Given the description of an element on the screen output the (x, y) to click on. 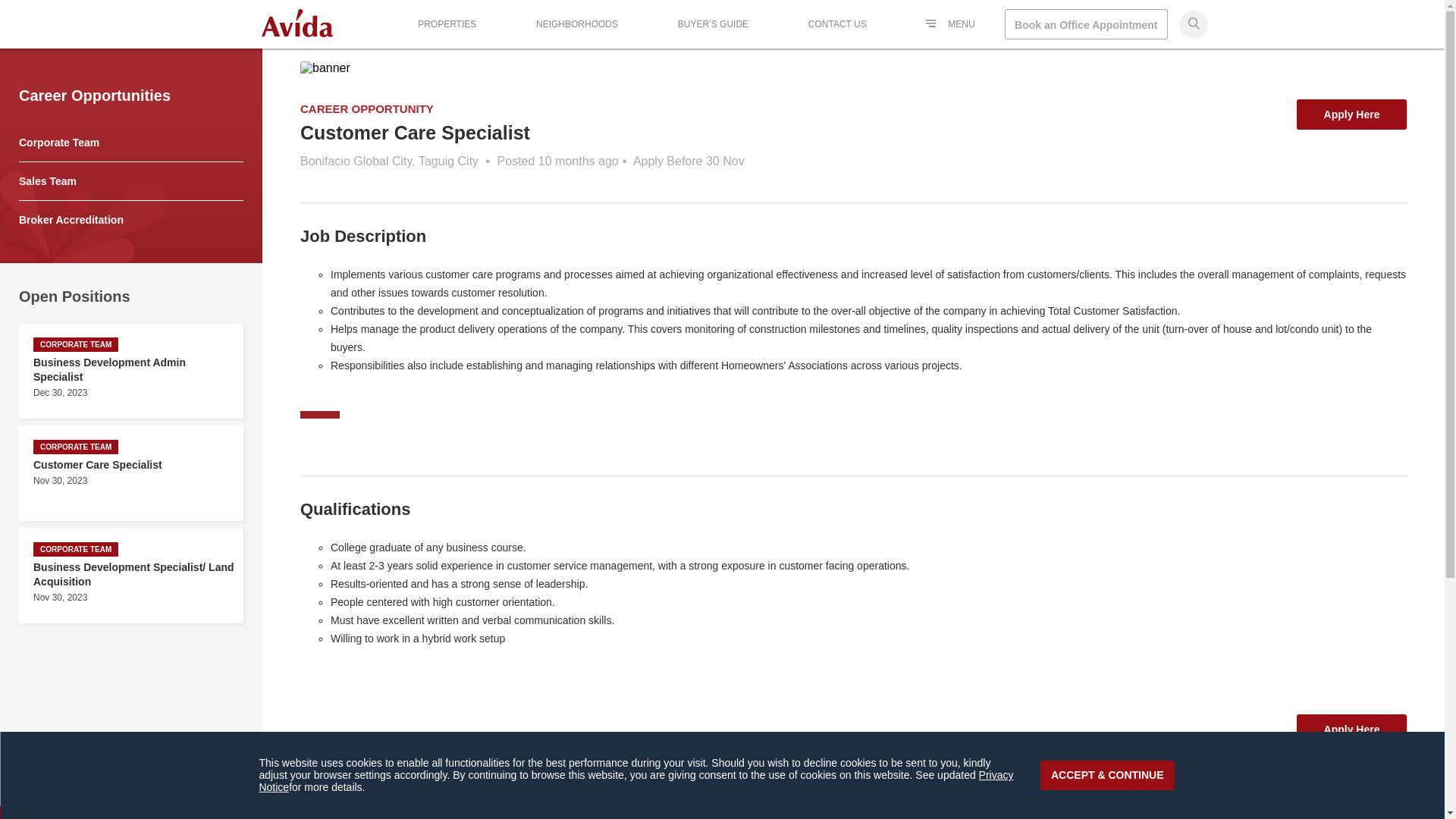
Corporate Team (58, 142)
Broker Accreditation (70, 219)
NEIGHBORHOODS (576, 24)
Book an Office Appointment (1085, 24)
Apply Here (130, 472)
PROPERTIES (1351, 729)
Apply Here (446, 24)
CONTACT US (1351, 114)
Sales Team (837, 24)
